Given the description of an element on the screen output the (x, y) to click on. 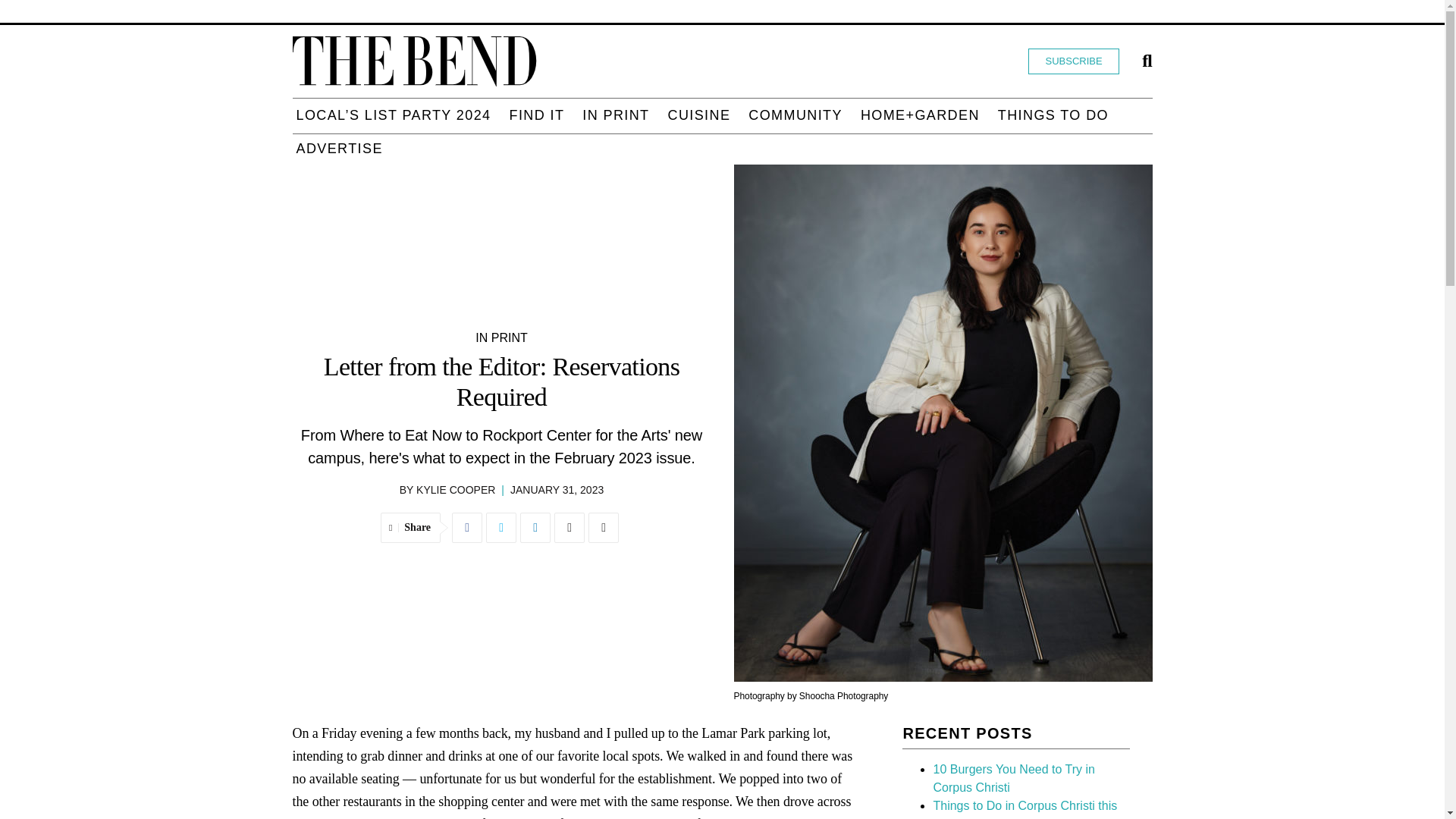
Local's List Party 2024 (393, 114)
Cuisine (699, 114)
Find It (536, 114)
In Print (615, 114)
